Given the description of an element on the screen output the (x, y) to click on. 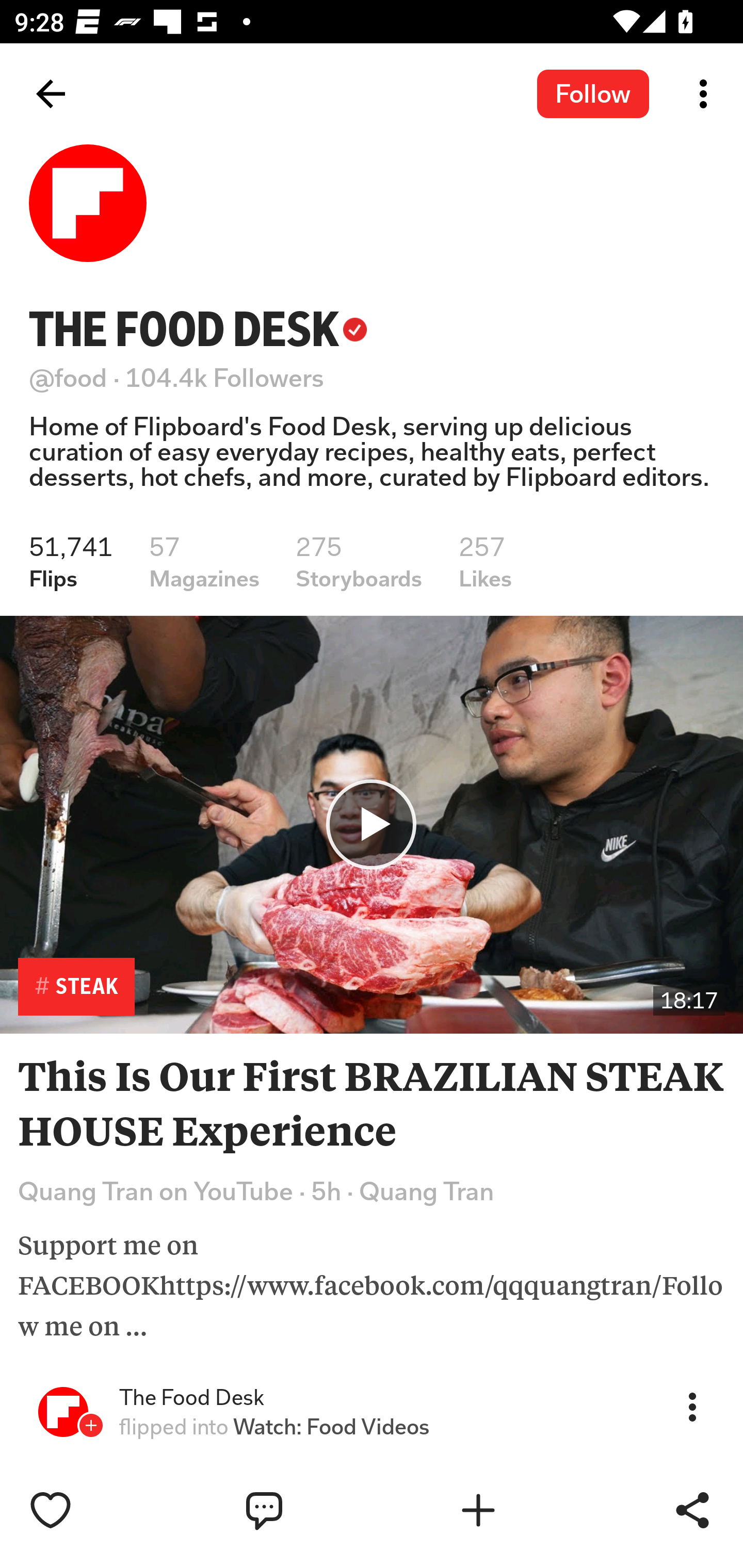
Back (50, 93)
More options (706, 93)
Follow (593, 92)
THE FOOD DESK (197, 328)
@food (67, 377)
104.4k Followers (224, 377)
51,741 Flips (70, 562)
57 Magazines (203, 562)
275 Storyboards (358, 562)
257 Likes (485, 562)
# STEAK (75, 987)
More (692, 1406)
The Food Desk (191, 1397)
flipped into Watch: Food Videos (273, 1426)
Like (93, 1509)
Write a comment… (307, 1509)
Flip into Magazine (521, 1509)
Share (692, 1509)
